Given the description of an element on the screen output the (x, y) to click on. 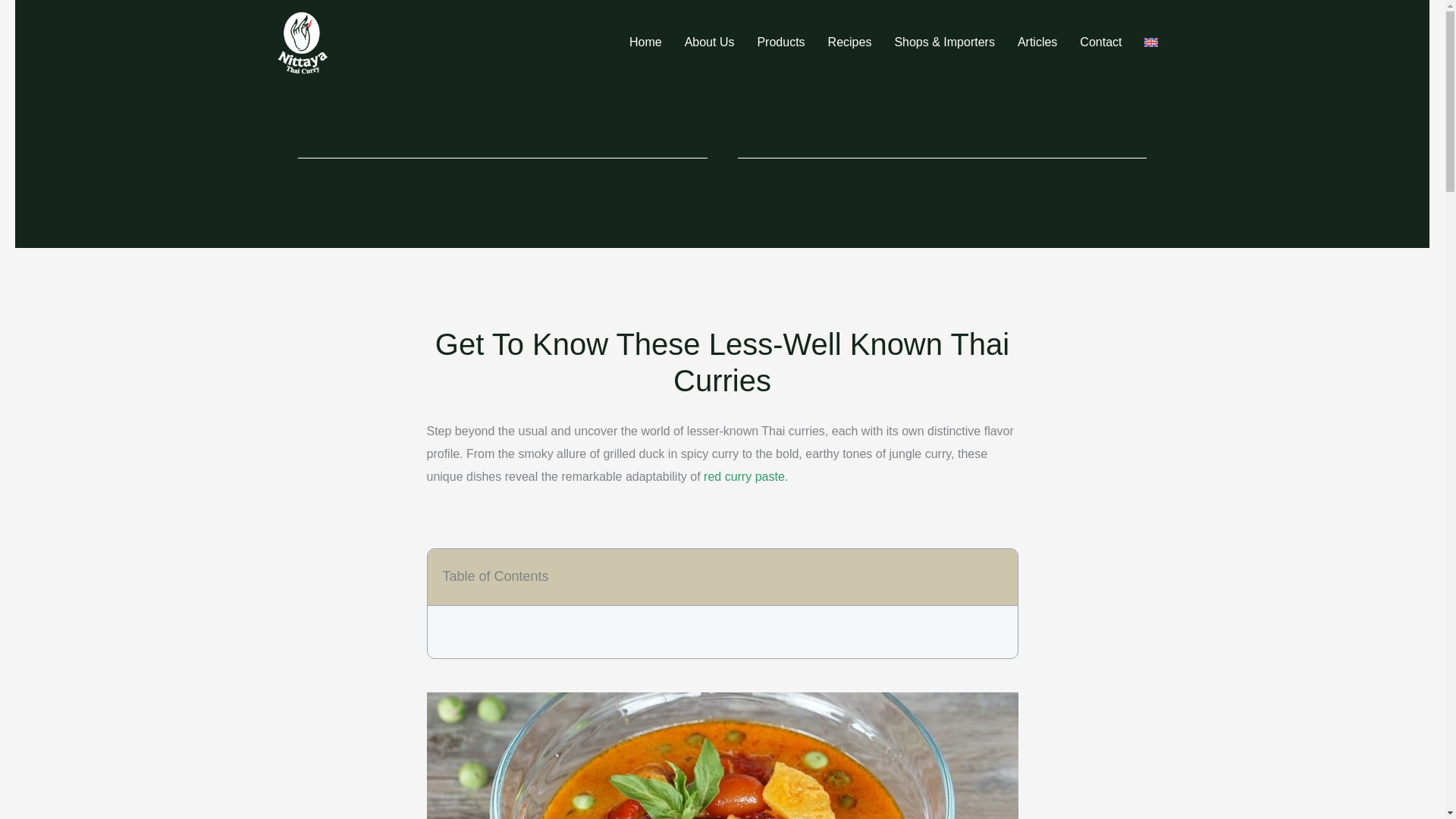
Home (644, 42)
Articles (1037, 42)
Recipes (849, 42)
Contact (1100, 42)
red curry paste. (745, 476)
About Us (708, 42)
Products (780, 42)
